Given the description of an element on the screen output the (x, y) to click on. 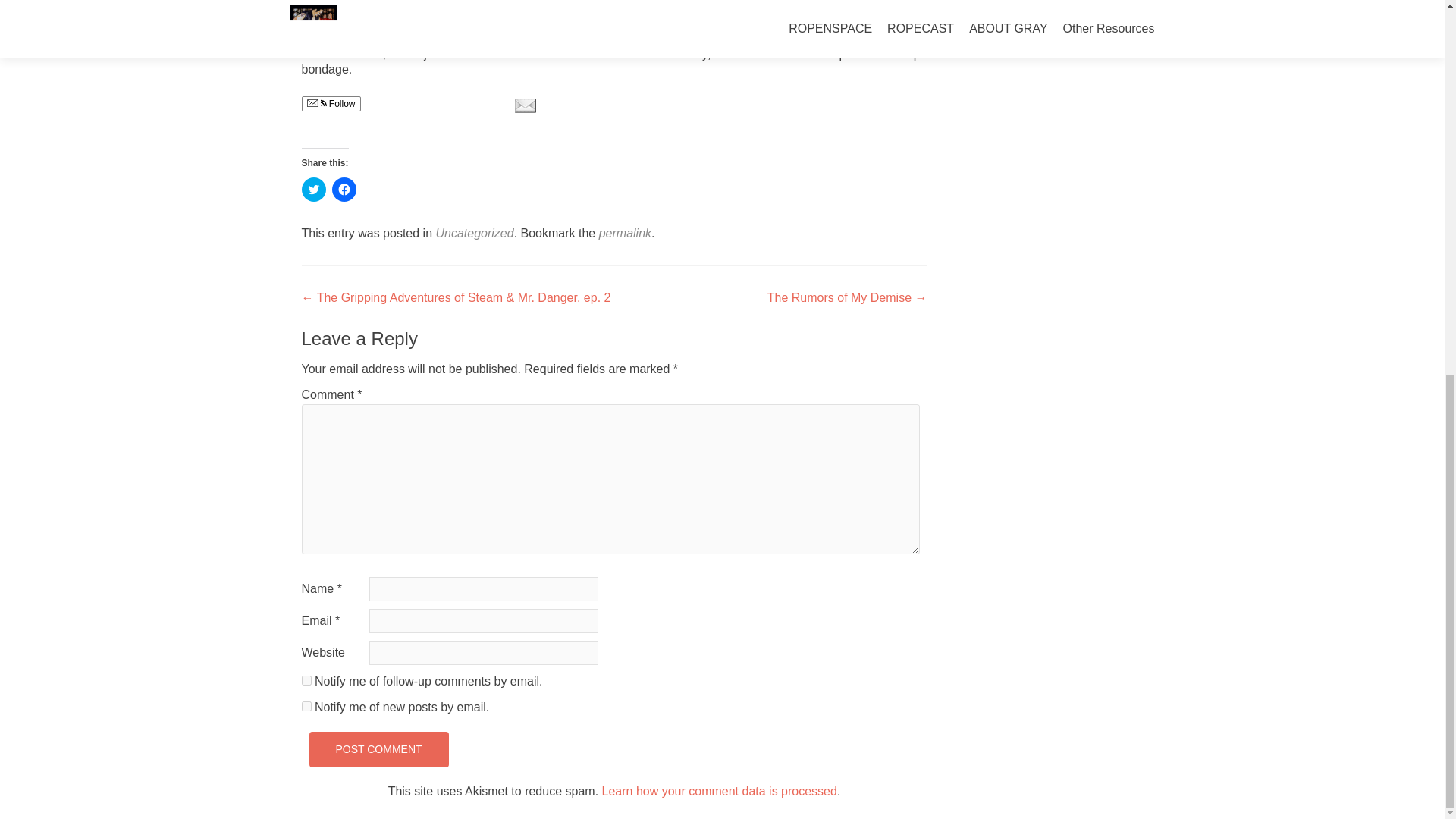
Share on Tumblr (475, 104)
permalink (624, 232)
Post Comment (378, 749)
subscribe (306, 706)
Email (525, 105)
Post Comment (378, 749)
Uncategorized (474, 232)
subscribe (306, 680)
Click to share on Twitter (313, 189)
Share on Tumblr (475, 104)
Follow (331, 103)
Learn how your comment data is processed (719, 790)
Email, RSS (315, 103)
Click to share on Facebook (343, 189)
